Given the description of an element on the screen output the (x, y) to click on. 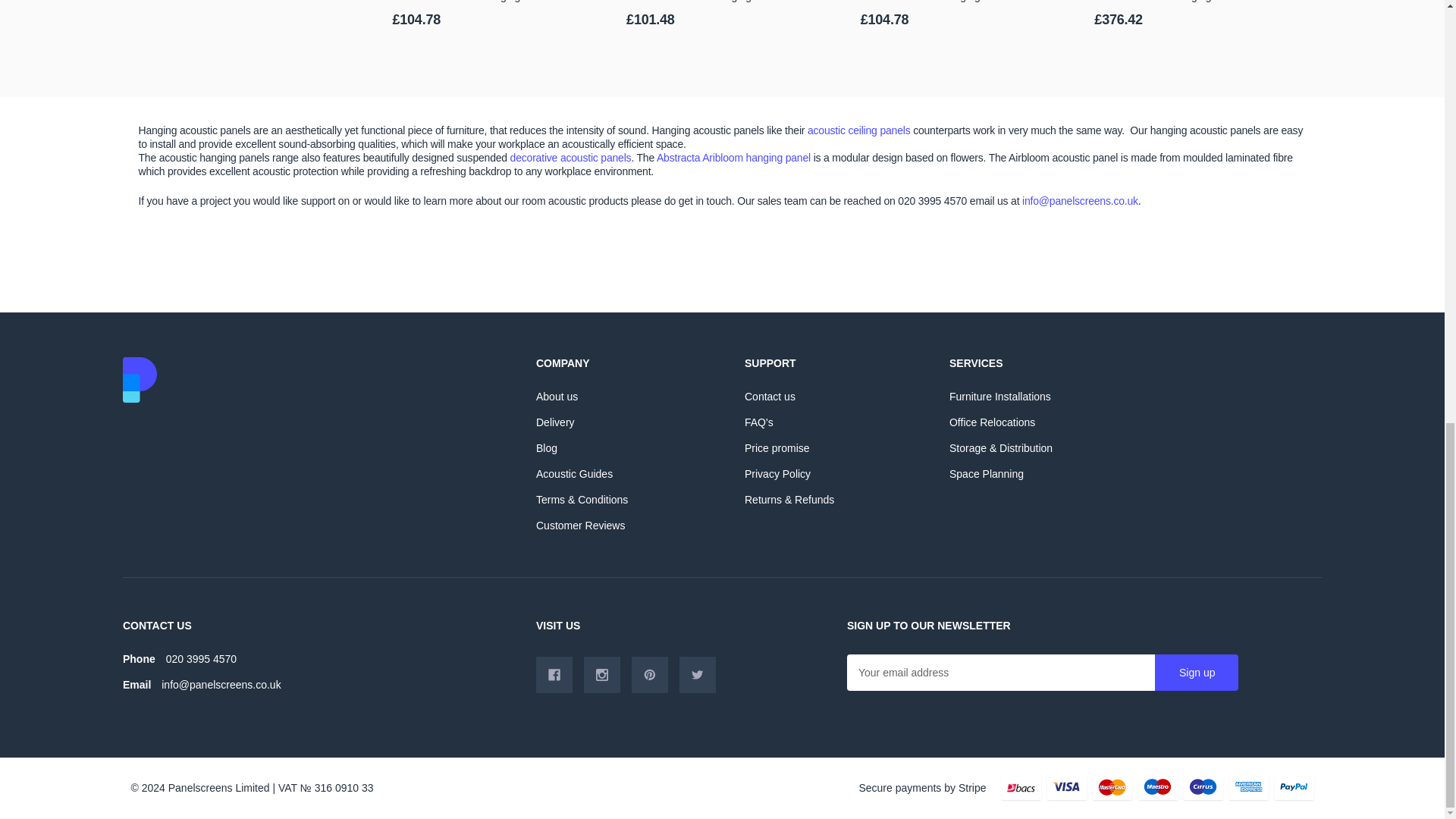
Sign up (1196, 672)
